Given the description of an element on the screen output the (x, y) to click on. 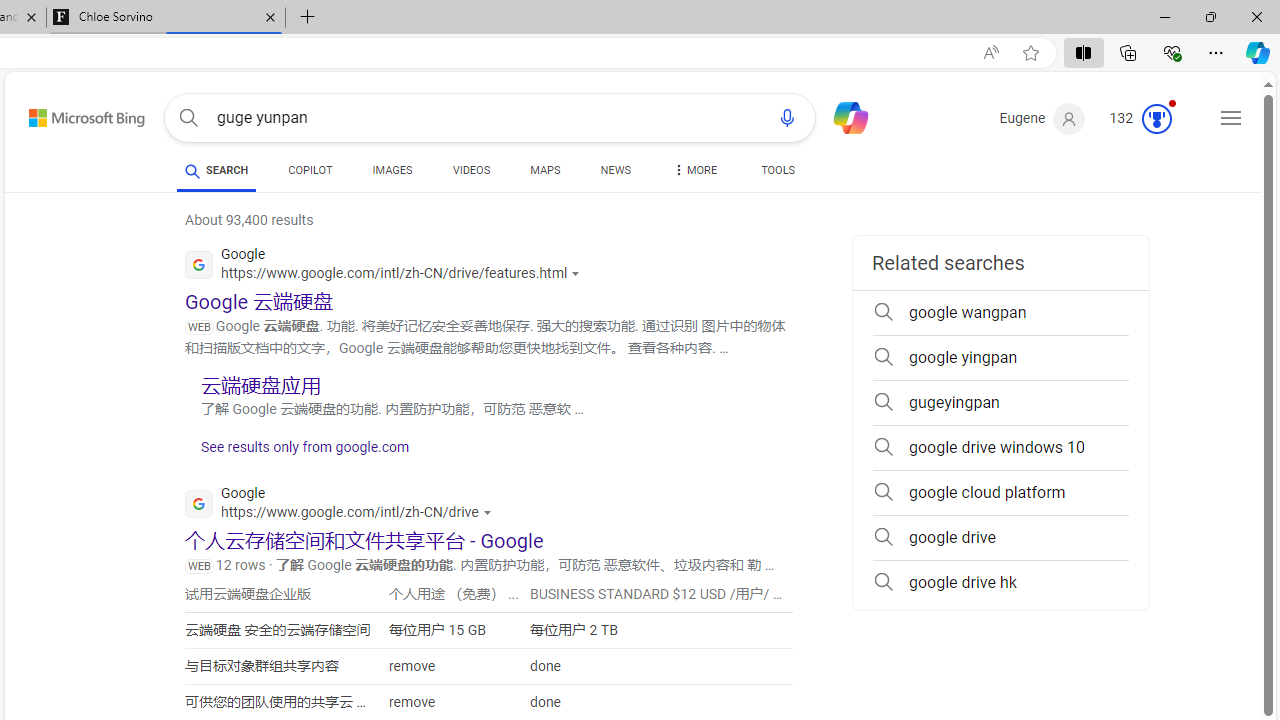
Microsoft Rewards 123 (1142, 119)
Chat (842, 116)
Back to Bing search (74, 113)
Class: medal-svg-animation (1156, 118)
MAPS (545, 173)
Global web icon (198, 503)
Add this page to favorites (Ctrl+D) (1030, 53)
IMAGES (392, 170)
Read aloud this page (Ctrl+Shift+U) (991, 53)
Eugene (1041, 119)
